Given the description of an element on the screen output the (x, y) to click on. 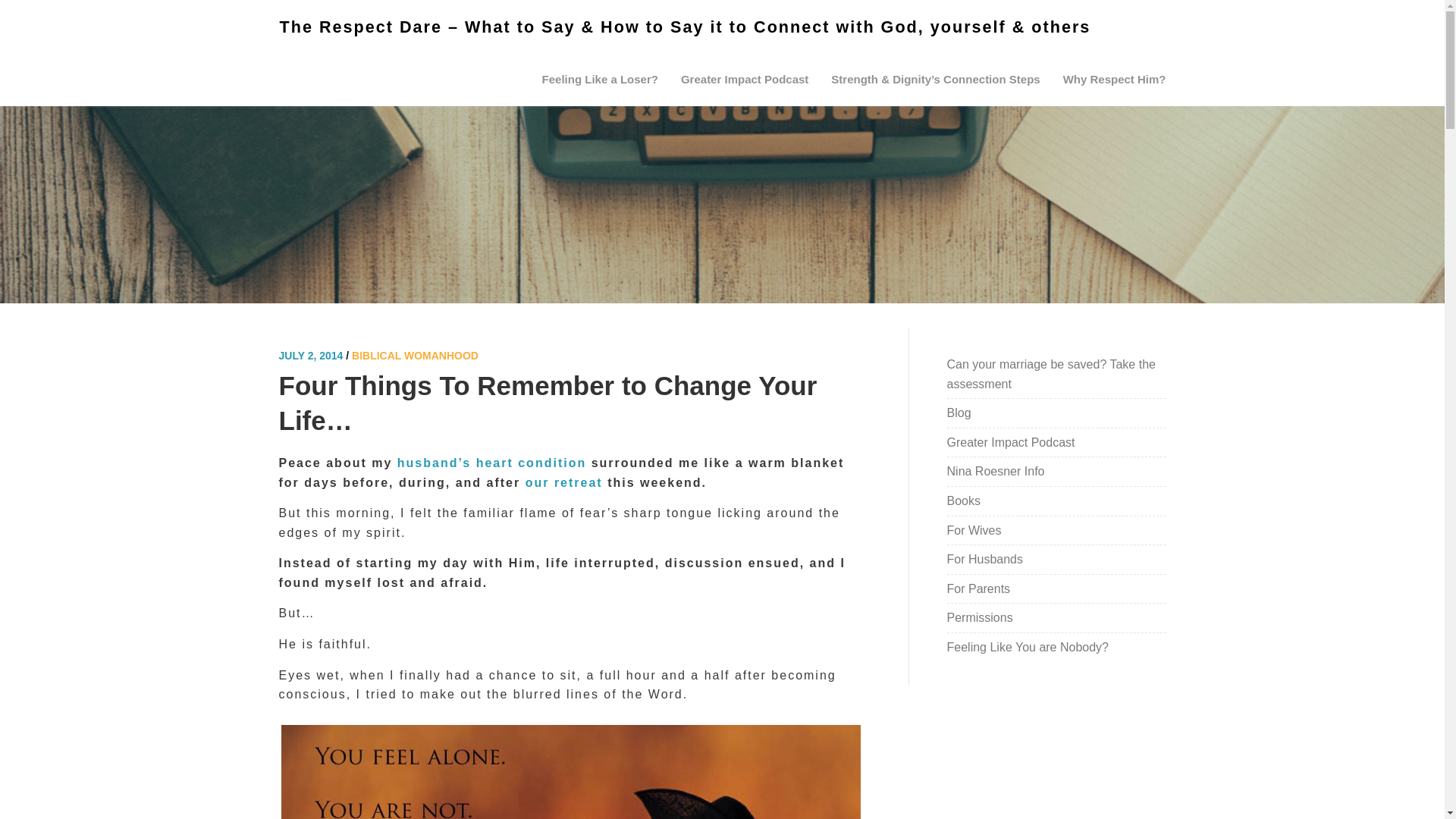
JULY 2, 2014 (311, 355)
Greater Impact Podcast (744, 79)
For Wives (974, 530)
Greater Impact Podcast (1011, 441)
Nina Roesner Info (996, 471)
our retreat (563, 481)
Books (963, 500)
For Parents (978, 588)
Why Respect Him? (1114, 79)
Can your marriage be saved? Take the assessment (1051, 373)
BIBLICAL WOMANHOOD (415, 355)
Blog (959, 412)
Permissions (980, 617)
Feeling Like a Loser? (600, 79)
Feeling Like You are Nobody? (1028, 646)
